Given the description of an element on the screen output the (x, y) to click on. 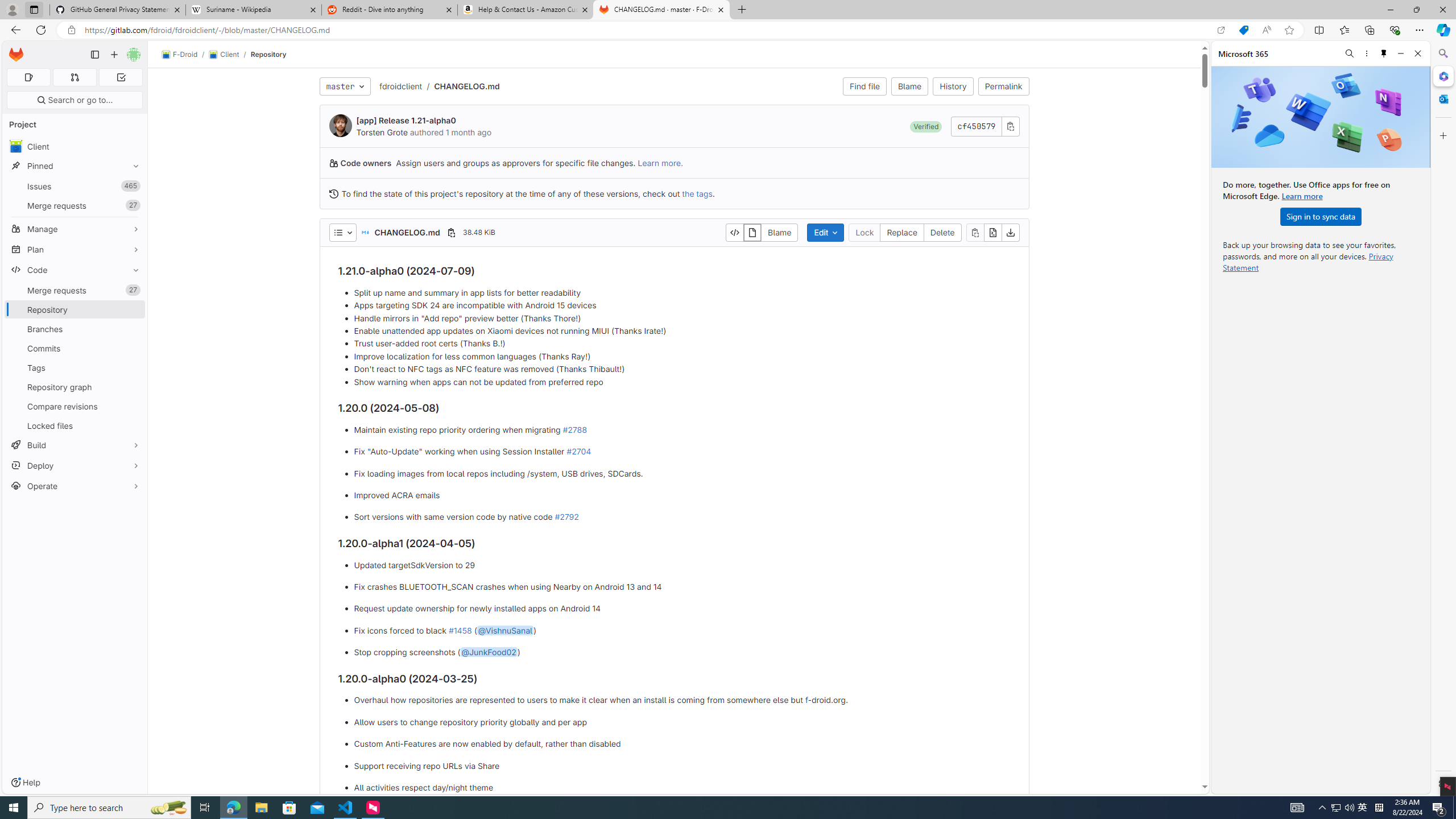
Copy file path (451, 232)
[app] Release 1.21-alpha0 (405, 120)
#1458 (459, 629)
Issues 465 (74, 185)
Locked files (74, 425)
Lock (864, 232)
Tags (74, 367)
